Given the description of an element on the screen output the (x, y) to click on. 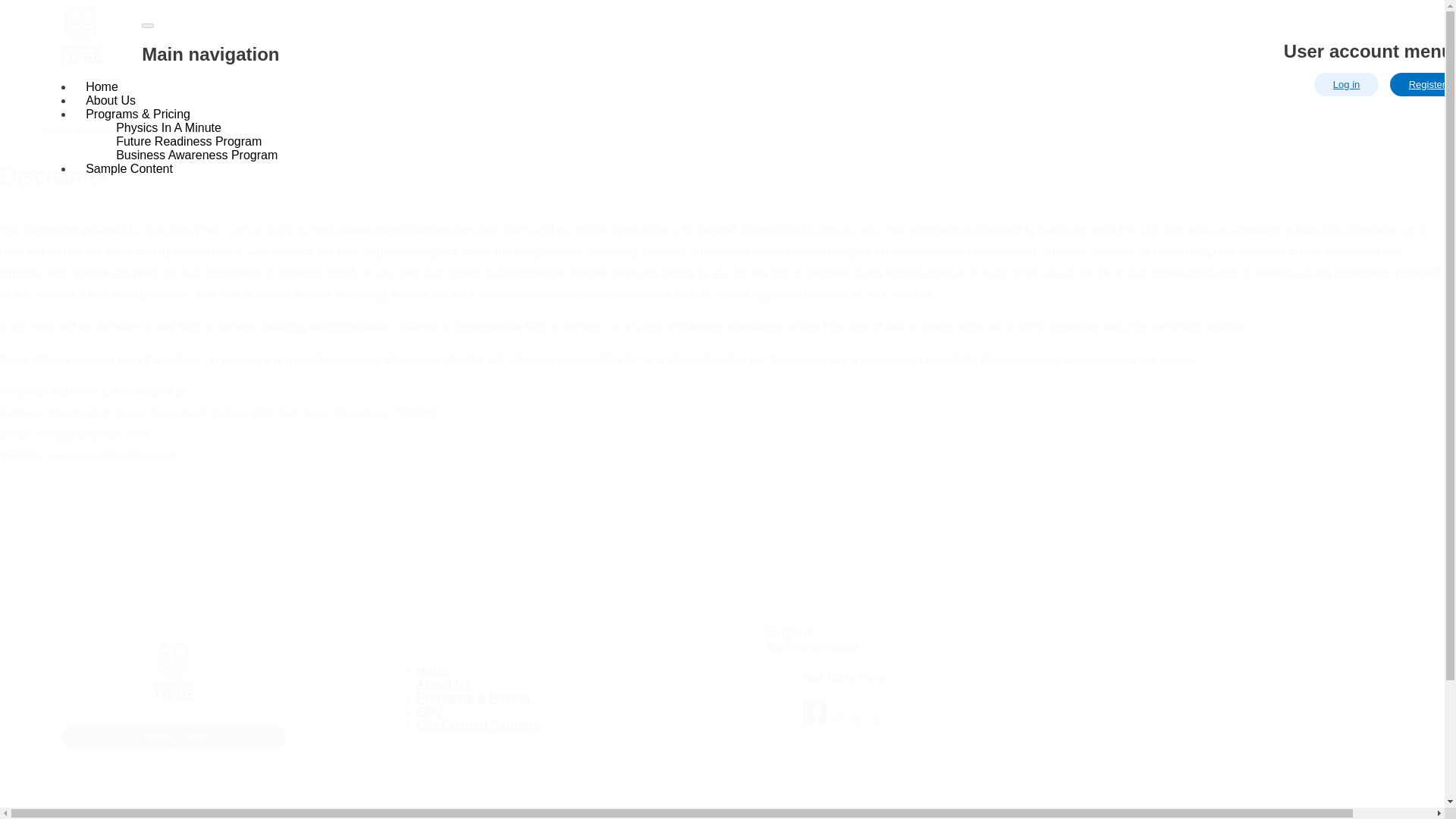
Home (58, 130)
About Us (111, 100)
Home (432, 674)
Future Readiness Program (188, 141)
Sample Content (129, 168)
Register (1423, 84)
Register Now (173, 736)
About Us (443, 688)
Log in (1346, 84)
Home (102, 86)
Home (80, 70)
Skip to main content (722, 1)
Business Awareness Program (196, 154)
Physics In A Minute (167, 127)
FAQ (429, 715)
